Given the description of an element on the screen output the (x, y) to click on. 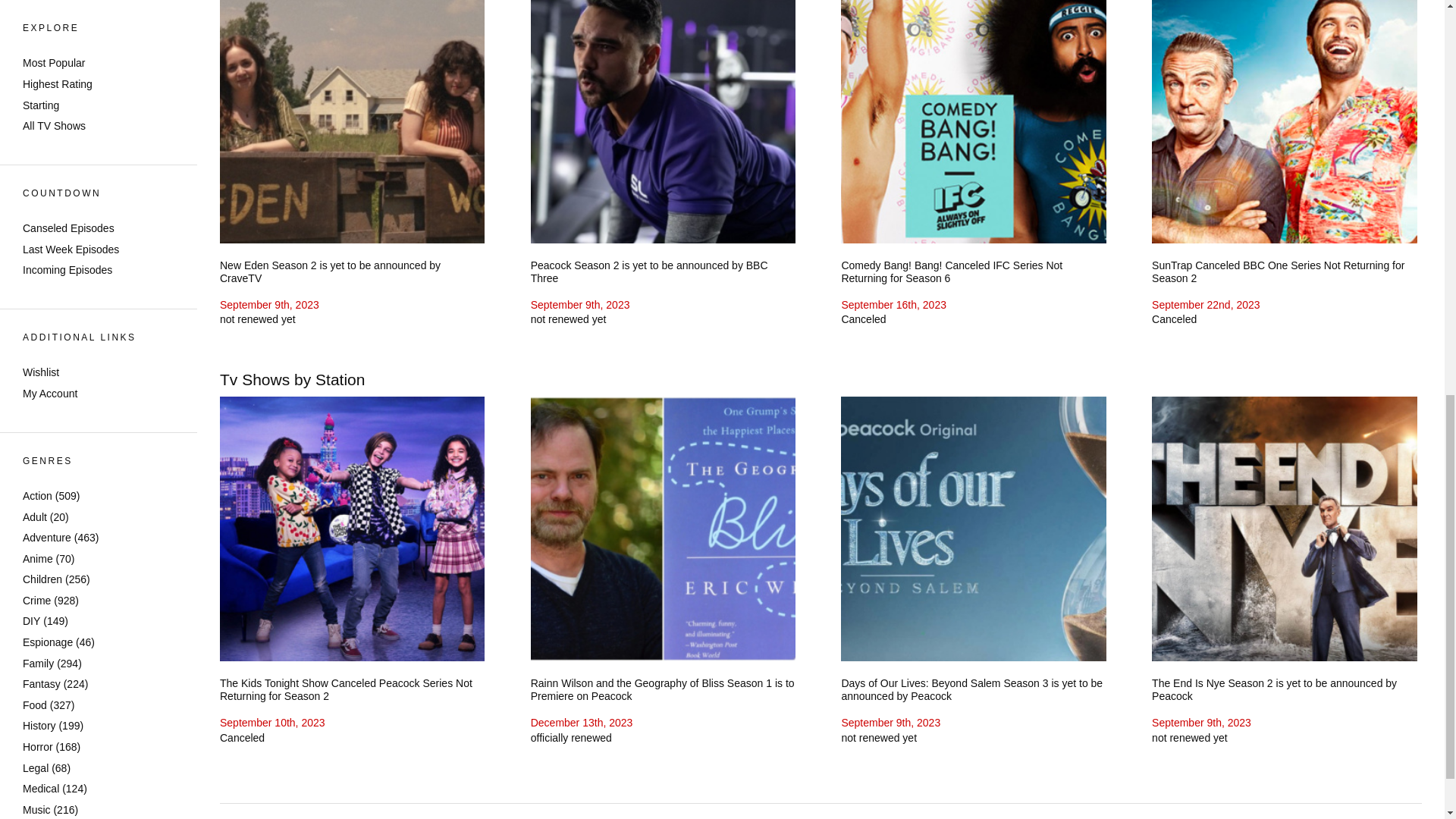
Science-Fiction (59, 135)
Medical (41, 30)
Legal (35, 10)
Thriller (39, 198)
Music (36, 51)
Mystery (41, 72)
Sports (37, 156)
Nature (39, 93)
Supernatural (52, 177)
Romance (45, 114)
